Given the description of an element on the screen output the (x, y) to click on. 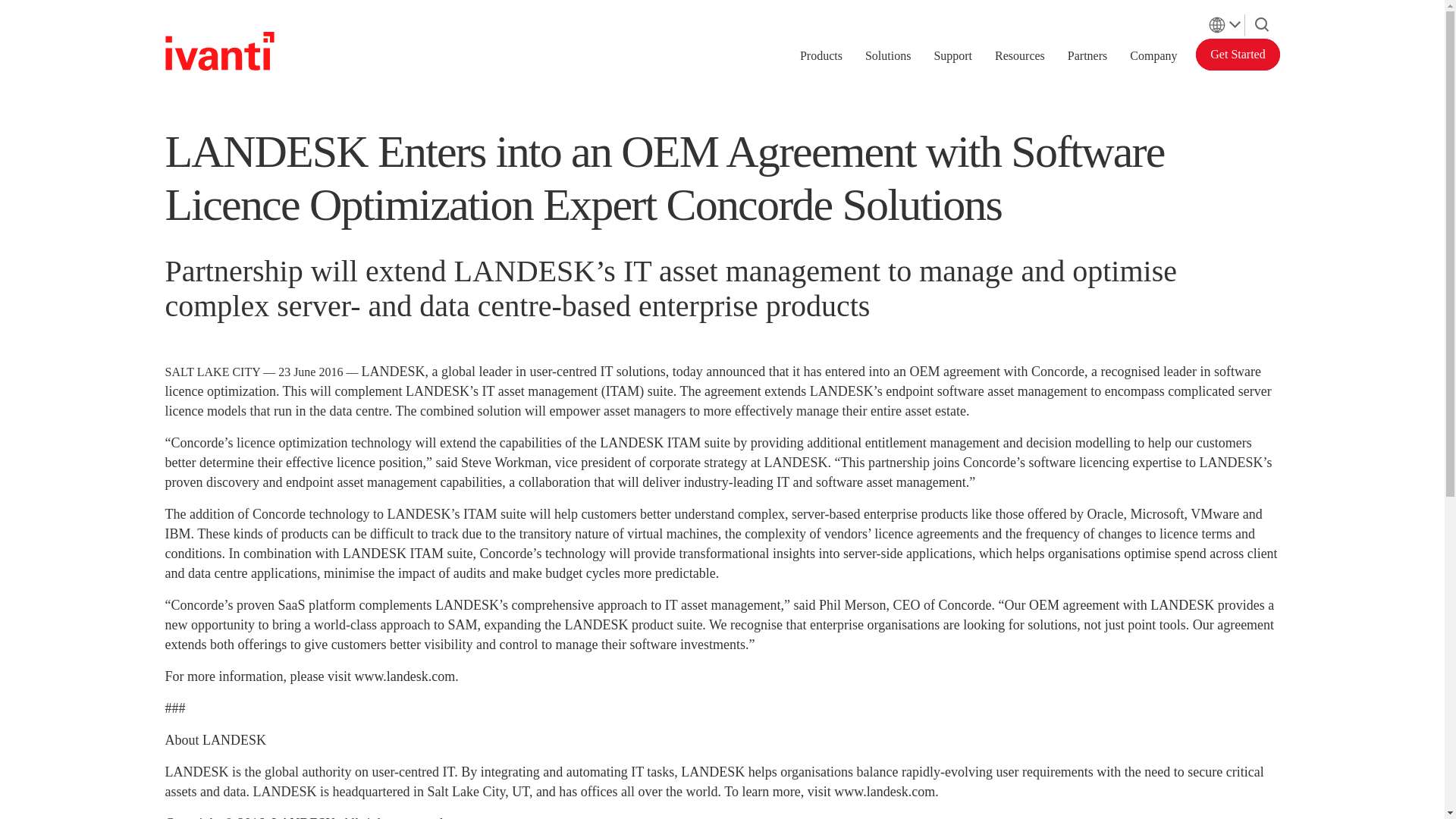
Search (1262, 24)
Search (1261, 22)
